Given the description of an element on the screen output the (x, y) to click on. 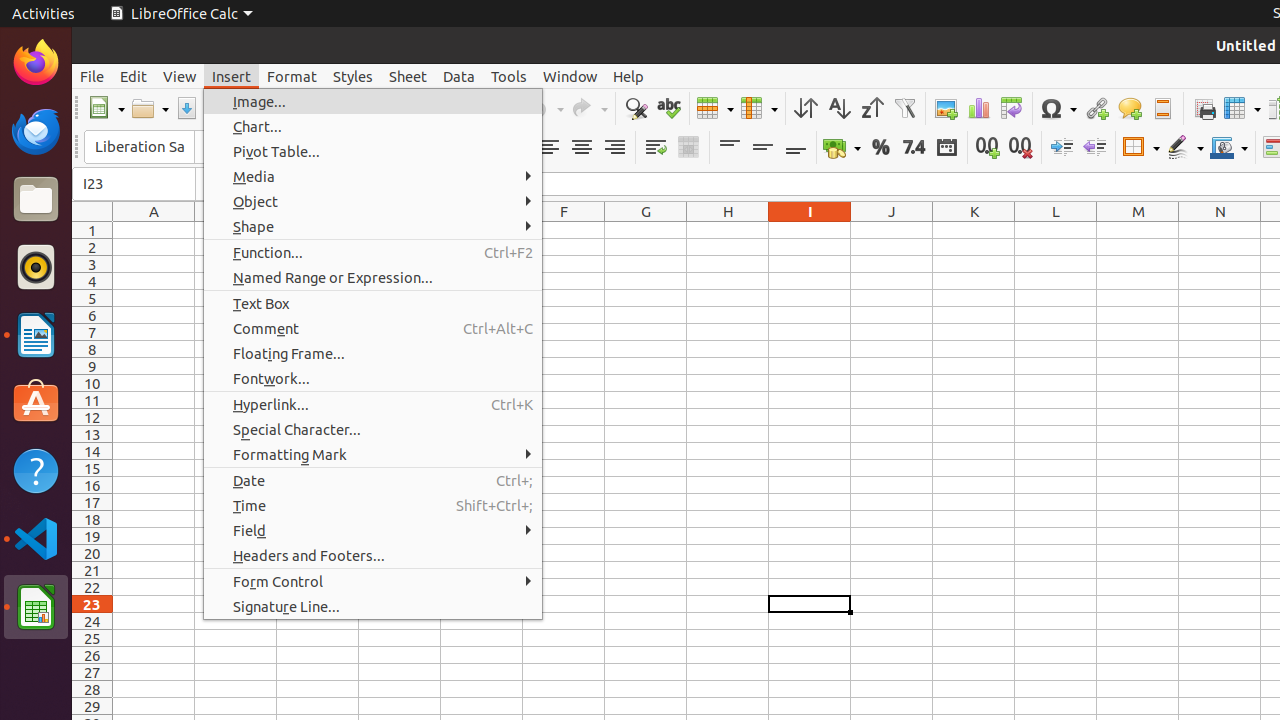
Border Color Element type: push-button (1229, 147)
M1 Element type: table-cell (1138, 230)
N1 Element type: table-cell (1220, 230)
Format Element type: menu (292, 76)
